Given the description of an element on the screen output the (x, y) to click on. 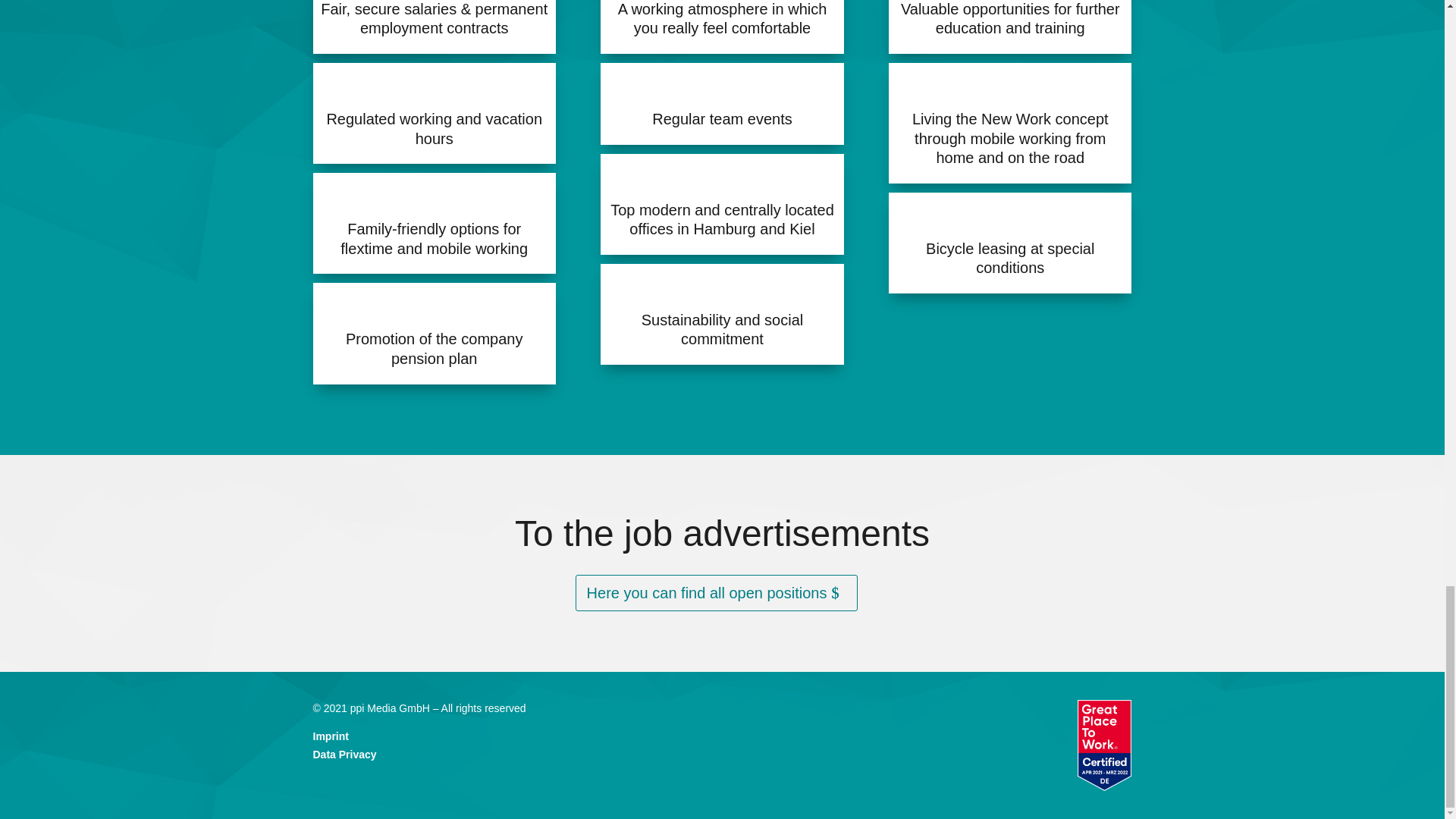
Here you can find all open positions (717, 592)
Data Privacy (344, 754)
Imprint (330, 736)
